Given the description of an element on the screen output the (x, y) to click on. 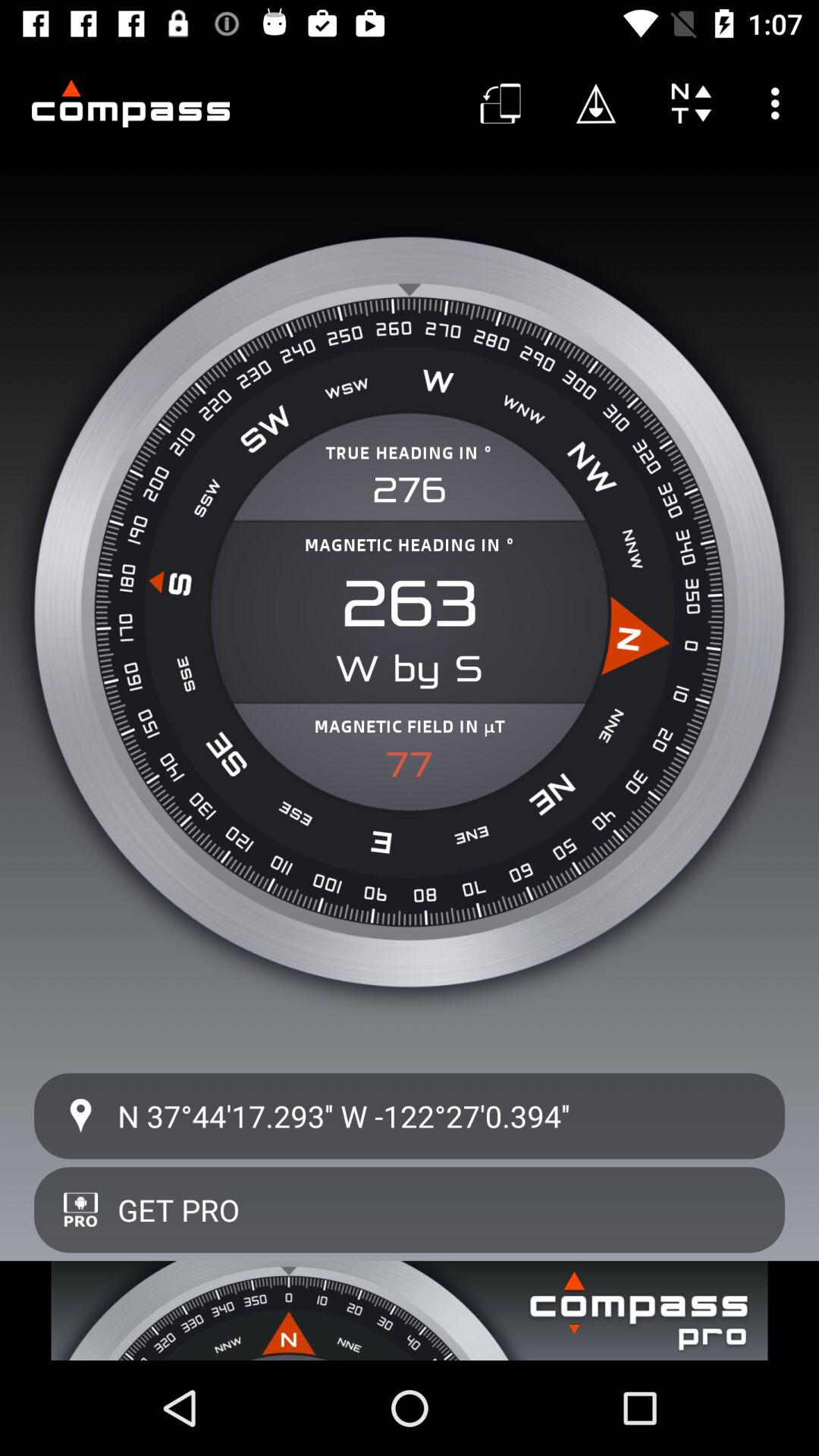
open the icon below get pro (409, 1310)
